Given the description of an element on the screen output the (x, y) to click on. 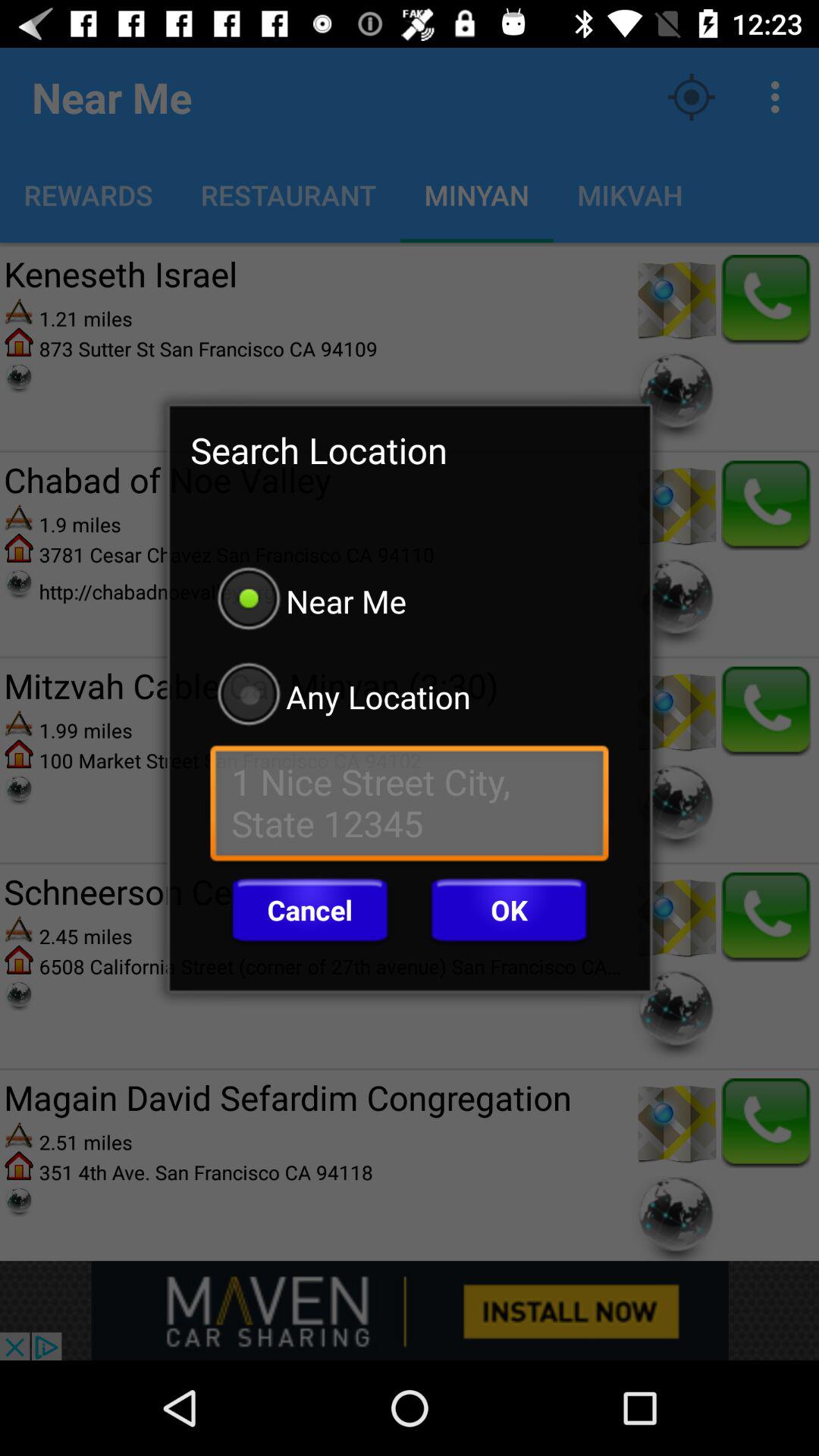
launch the icon below search location item (409, 600)
